Given the description of an element on the screen output the (x, y) to click on. 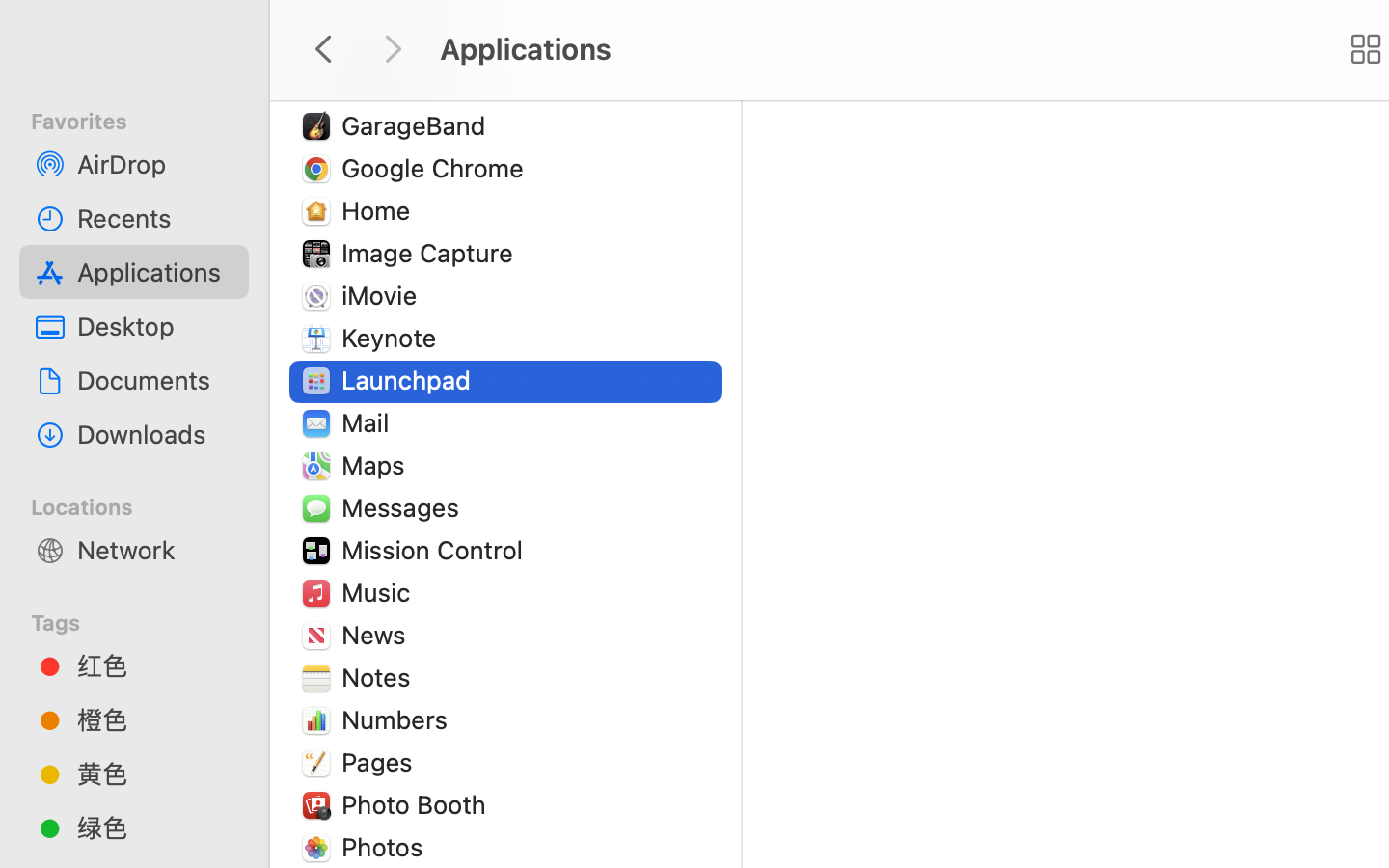
Photo Booth Element type: AXTextField (417, 803)
Font Book Element type: AXTextField (404, 40)
Favorites Element type: AXStaticText (145, 118)
Applications Element type: AXStaticText (155, 271)
News Element type: AXTextField (377, 634)
